Given the description of an element on the screen output the (x, y) to click on. 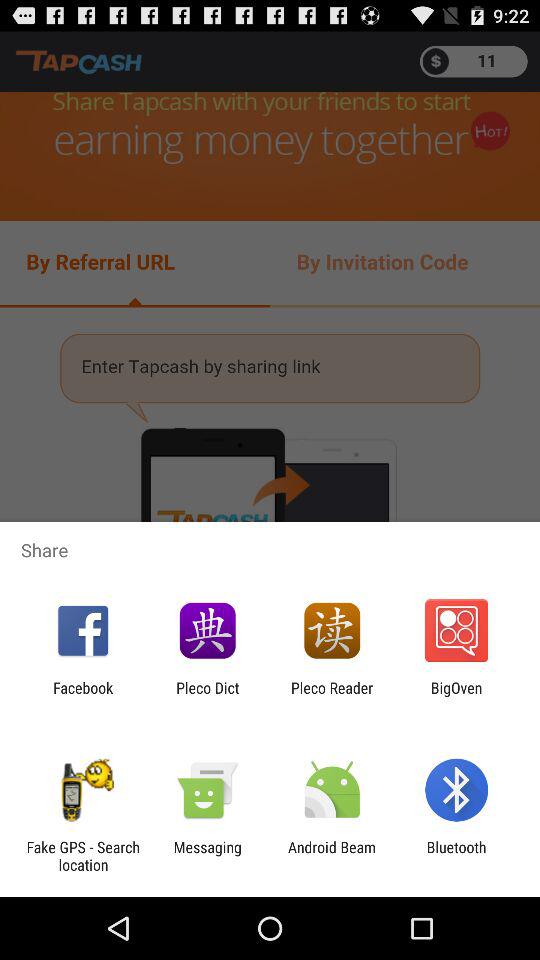
jump to bluetooth app (456, 856)
